Given the description of an element on the screen output the (x, y) to click on. 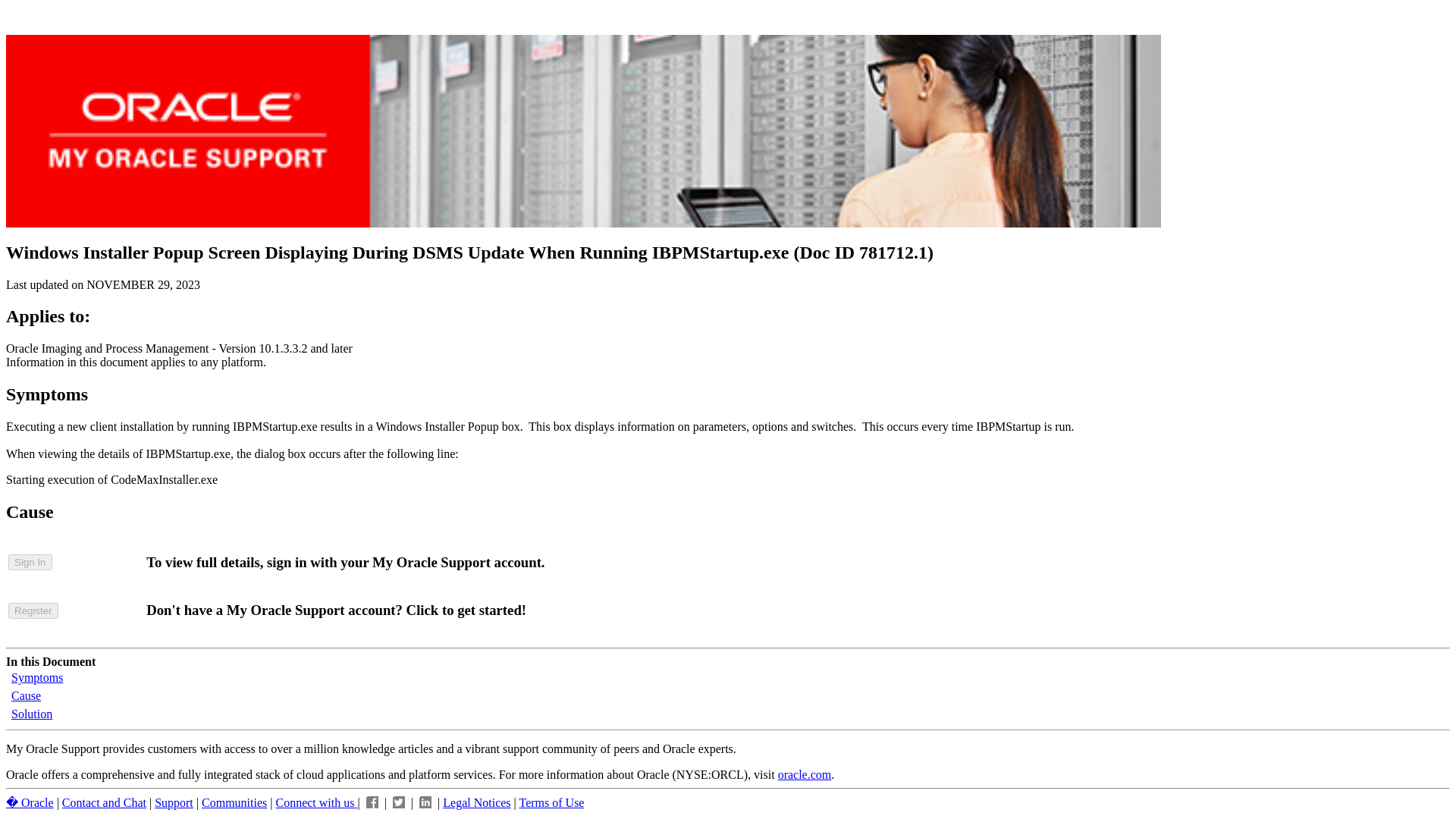
Sign In (30, 561)
Sign In (30, 562)
Register (33, 610)
Symptoms (36, 676)
Register (33, 609)
oracle.com (804, 774)
Cause (25, 695)
Solution (31, 713)
oracle.com (804, 774)
